Given the description of an element on the screen output the (x, y) to click on. 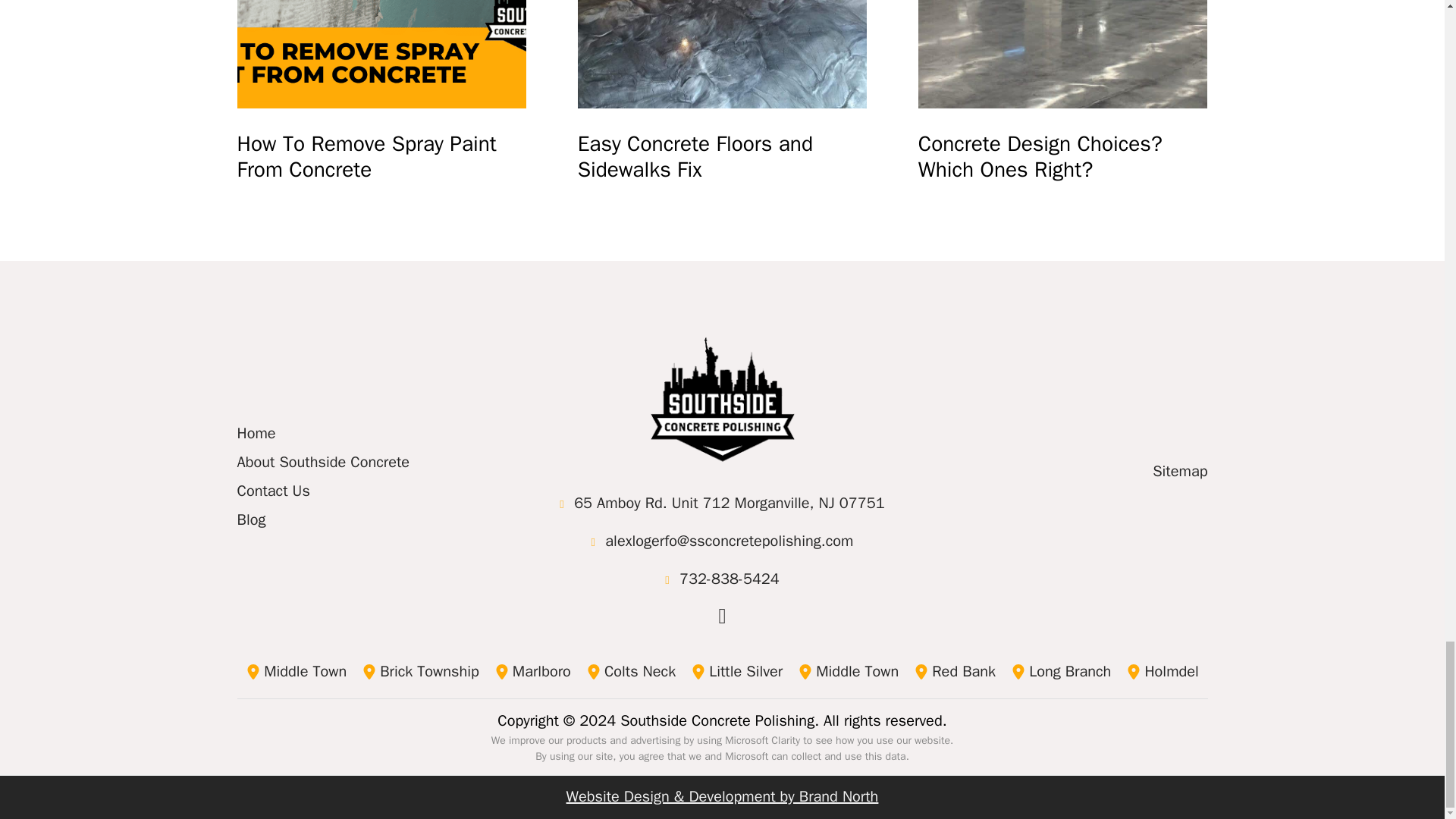
How To Remove Spray Paint From Concrete (380, 156)
Easy Concrete Floors and Sidewalks Fix (722, 54)
Easy Concrete Floors and Sidewalks Fix (722, 156)
Concrete Design Choices? Which Ones Right? (1063, 54)
How To Remove Spray Paint From Concrete (380, 54)
